Given the description of an element on the screen output the (x, y) to click on. 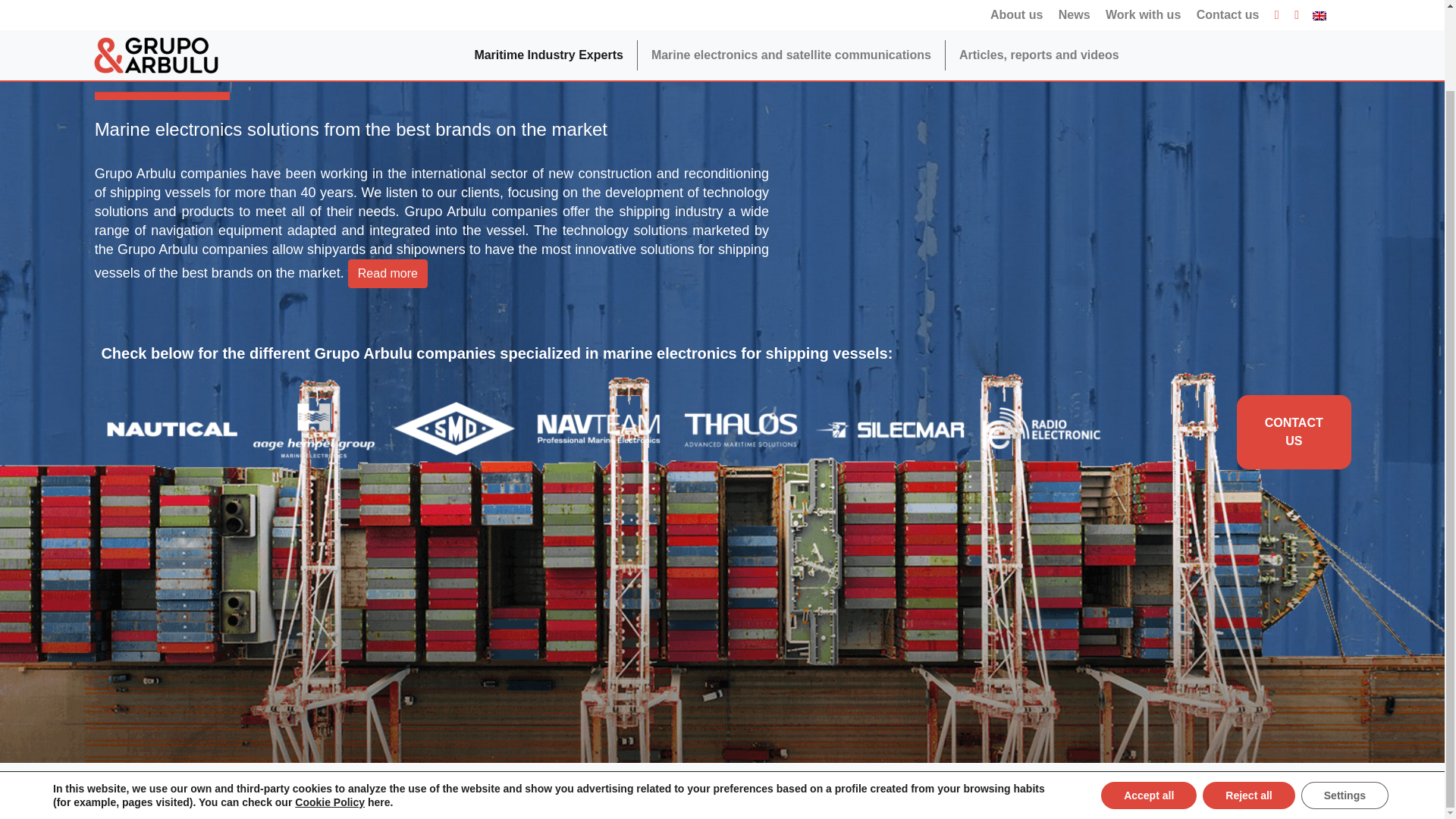
Read more (387, 273)
Cookies Policy (656, 776)
Privacy Policy (561, 776)
CONTACT US (1293, 431)
